Given the description of an element on the screen output the (x, y) to click on. 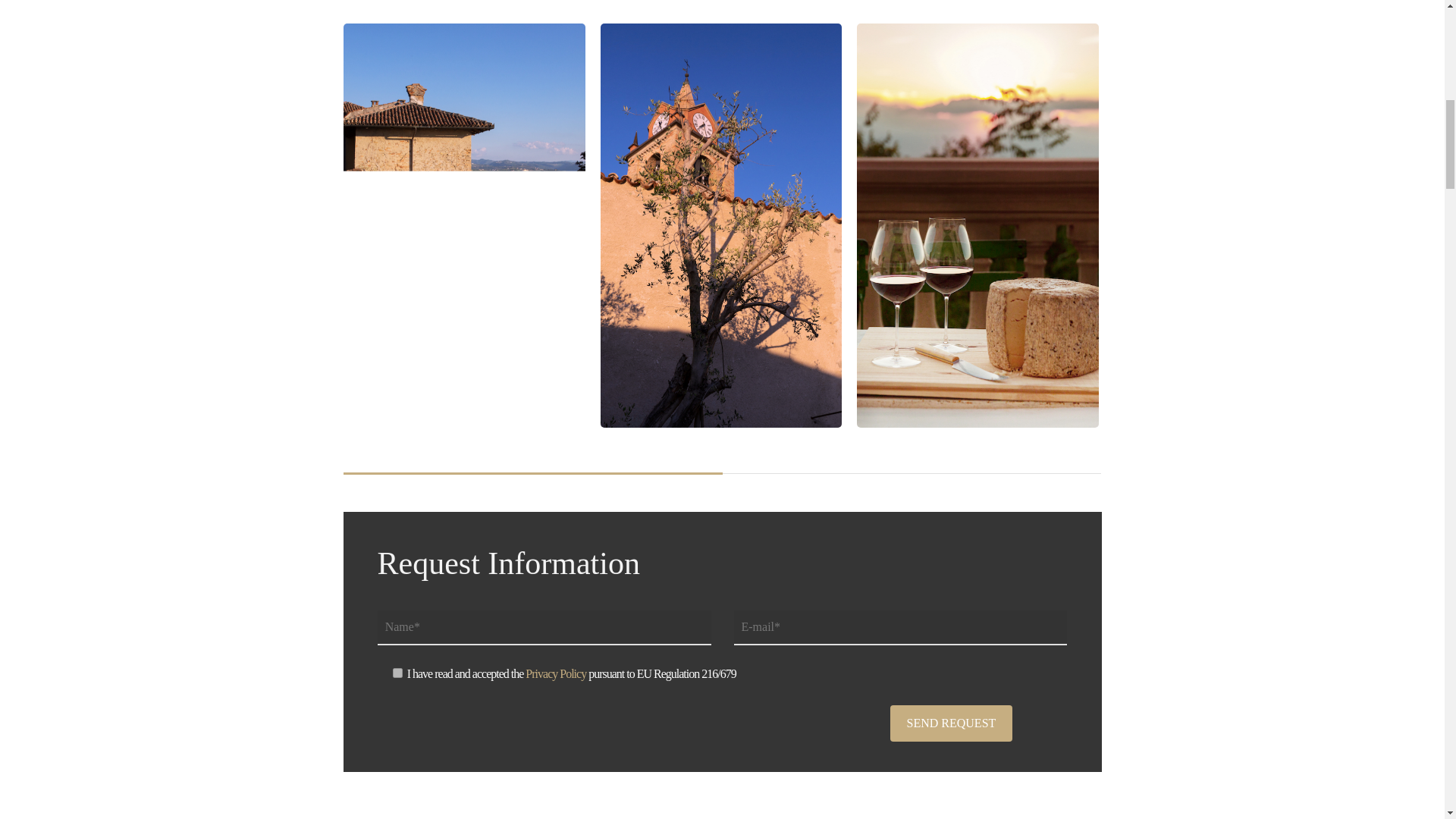
SEND REQUEST (951, 723)
Privacy Policy (555, 673)
1 (398, 673)
SEND REQUEST (951, 723)
